Given the description of an element on the screen output the (x, y) to click on. 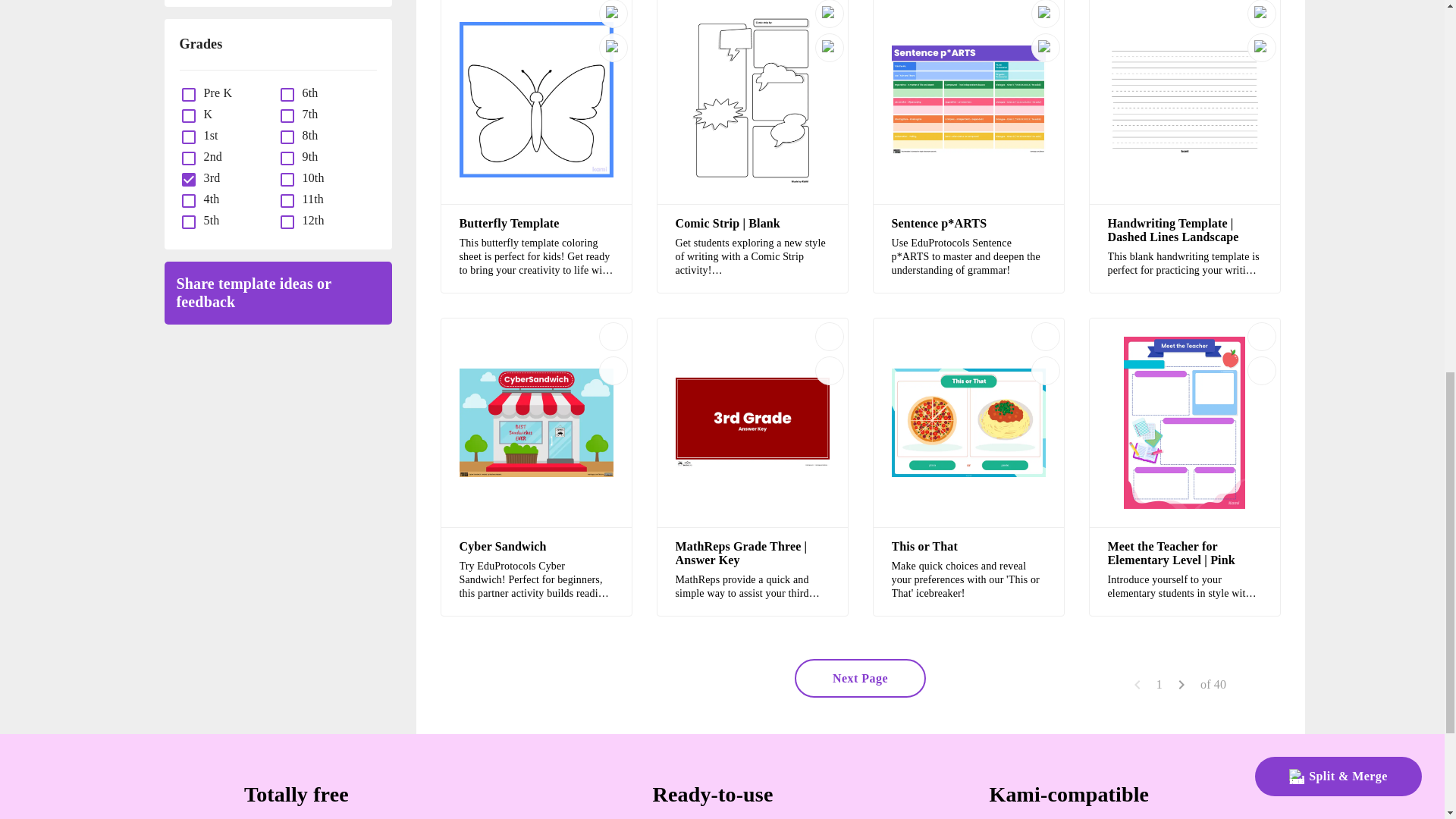
1st (206, 135)
K (204, 114)
2nd (208, 156)
5th (207, 220)
6th (306, 92)
3rd (207, 177)
9th (306, 156)
11th (309, 199)
Pre K (213, 92)
7th (306, 114)
